Given the description of an element on the screen output the (x, y) to click on. 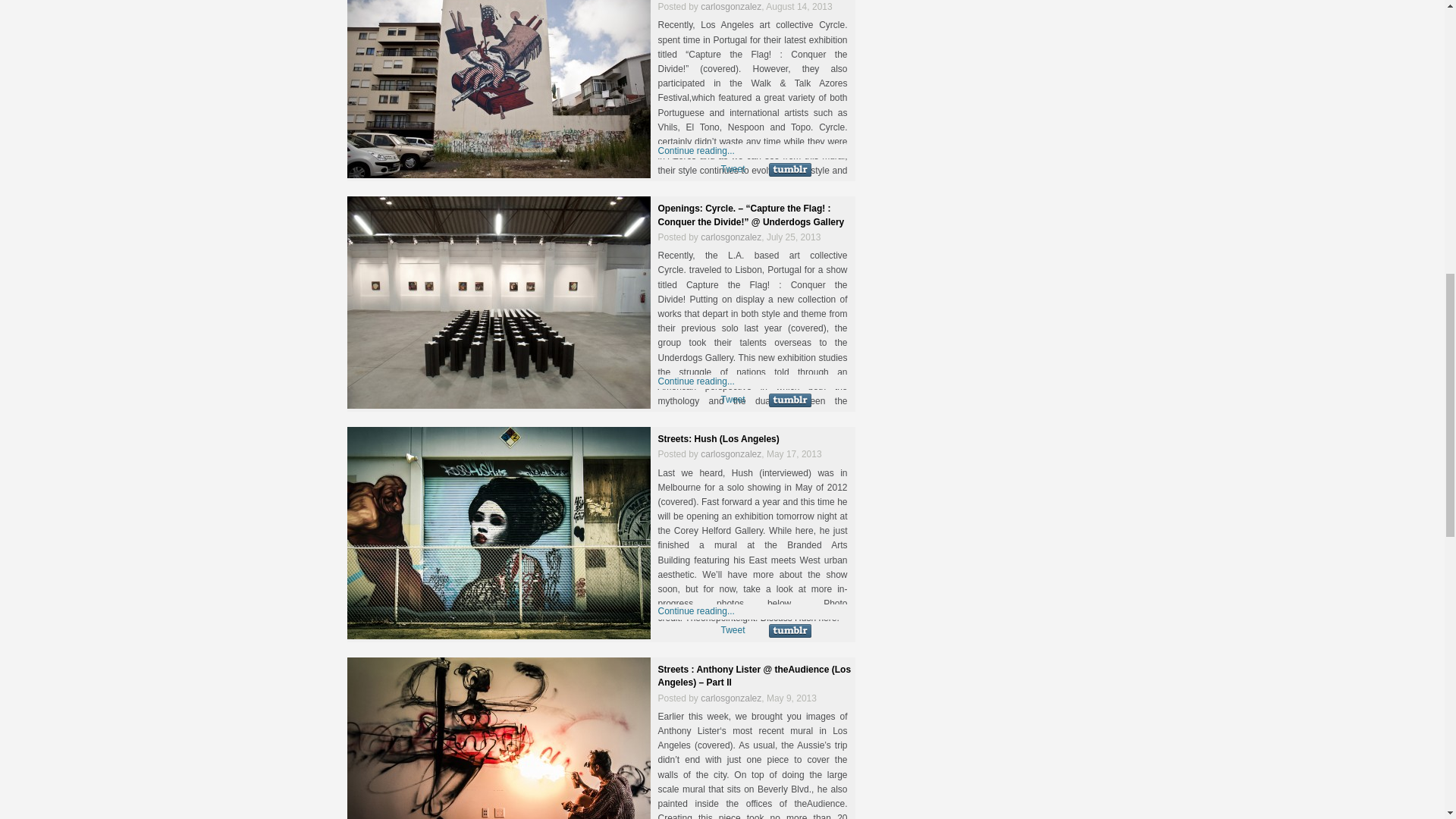
Continue reading... (696, 150)
carlosgonzalez (730, 236)
Tweet (732, 168)
Continue reading... (696, 380)
carlosgonzalez (730, 6)
